Given the description of an element on the screen output the (x, y) to click on. 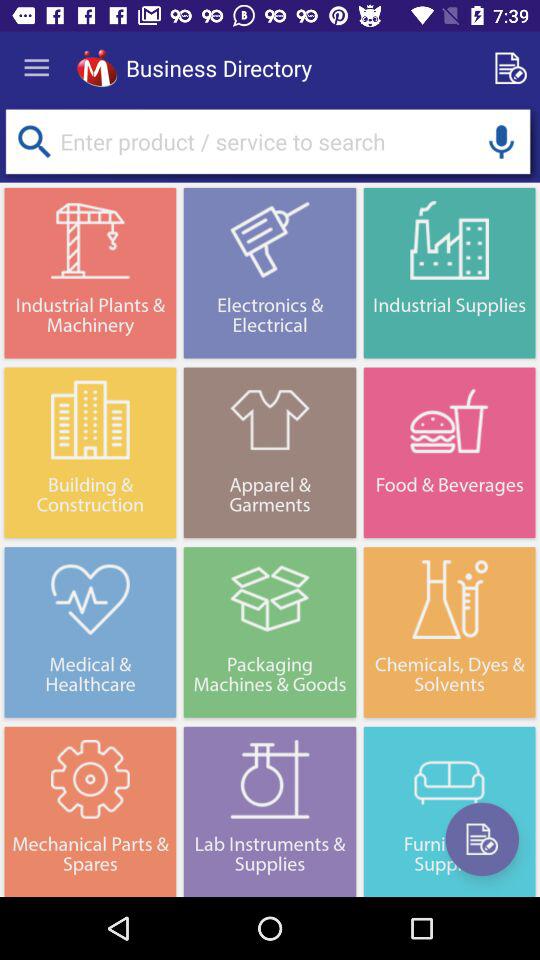
search (34, 141)
